Given the description of an element on the screen output the (x, y) to click on. 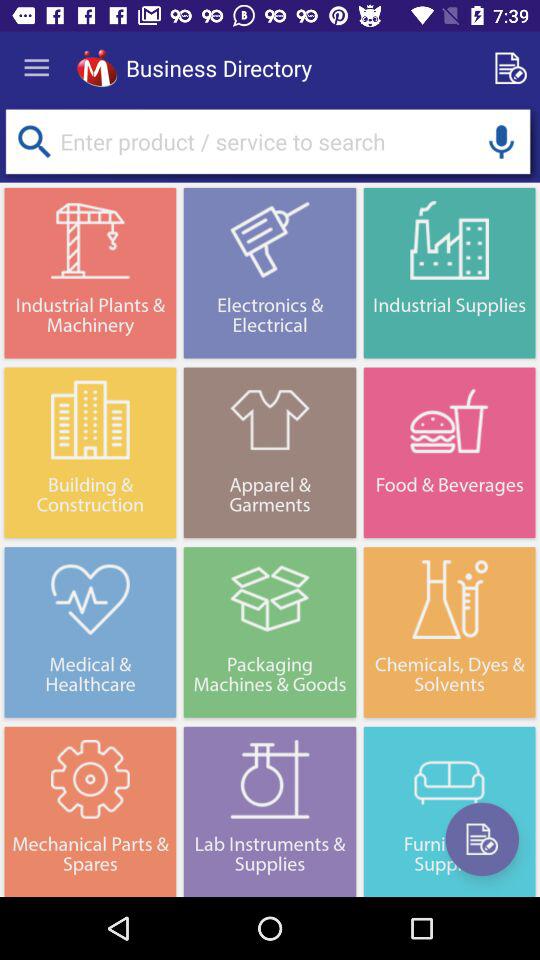
search (34, 141)
